Given the description of an element on the screen output the (x, y) to click on. 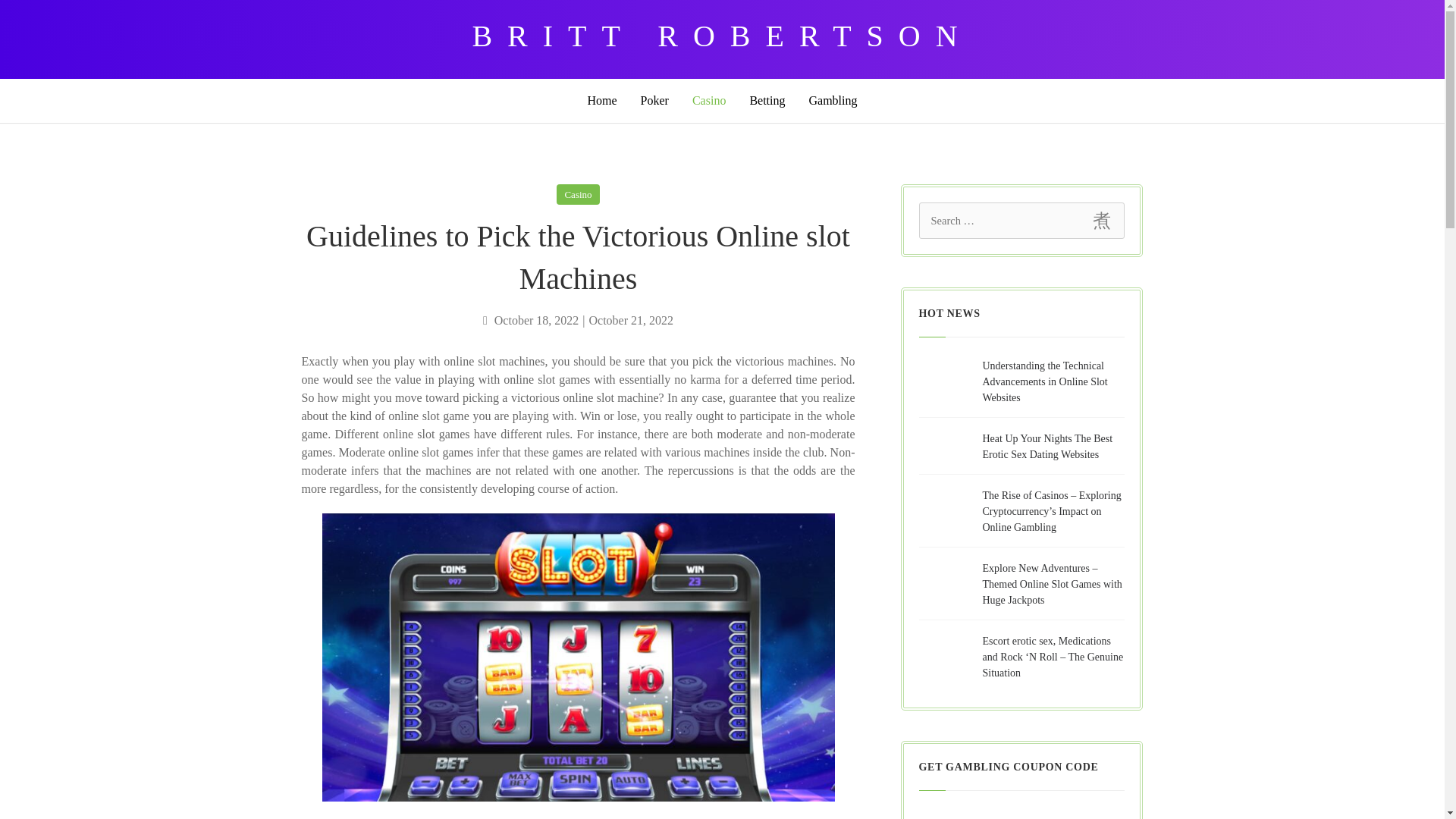
Gambling (832, 100)
Betting (767, 100)
Heat Up Your Nights The Best Erotic Sex Dating Websites (1047, 446)
Home (602, 100)
Poker (654, 100)
Betting (767, 100)
Poker (654, 100)
Casino (708, 100)
Home (602, 100)
October 18, 2022October 21, 2022 (577, 321)
BRITT ROBERTSON (721, 39)
Casino (577, 194)
Casino (708, 100)
Search (1101, 220)
